Given the description of an element on the screen output the (x, y) to click on. 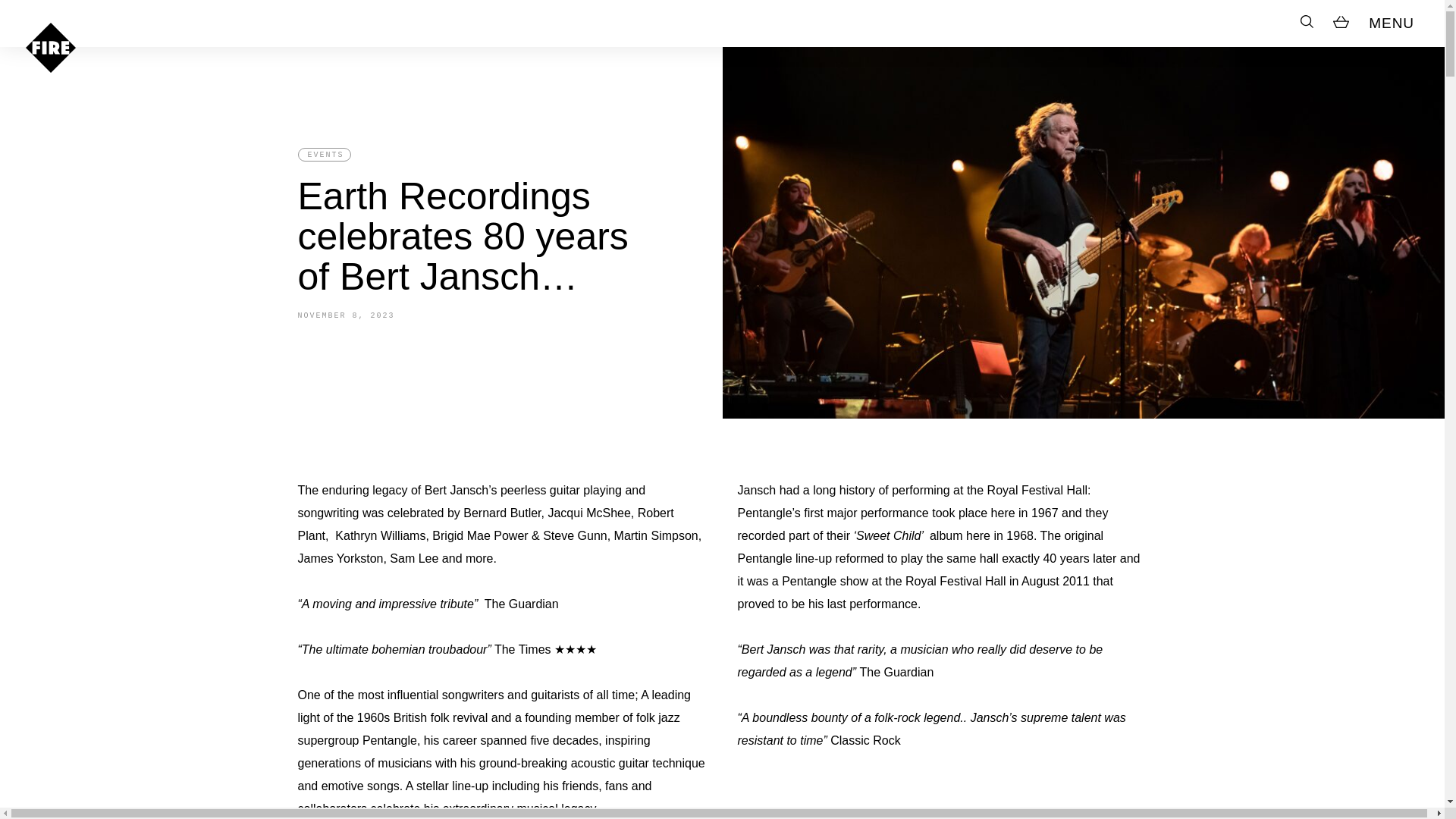
MENU (1390, 23)
Search (151, 13)
EVENTS (323, 154)
 The Guardian (520, 603)
